Given the description of an element on the screen output the (x, y) to click on. 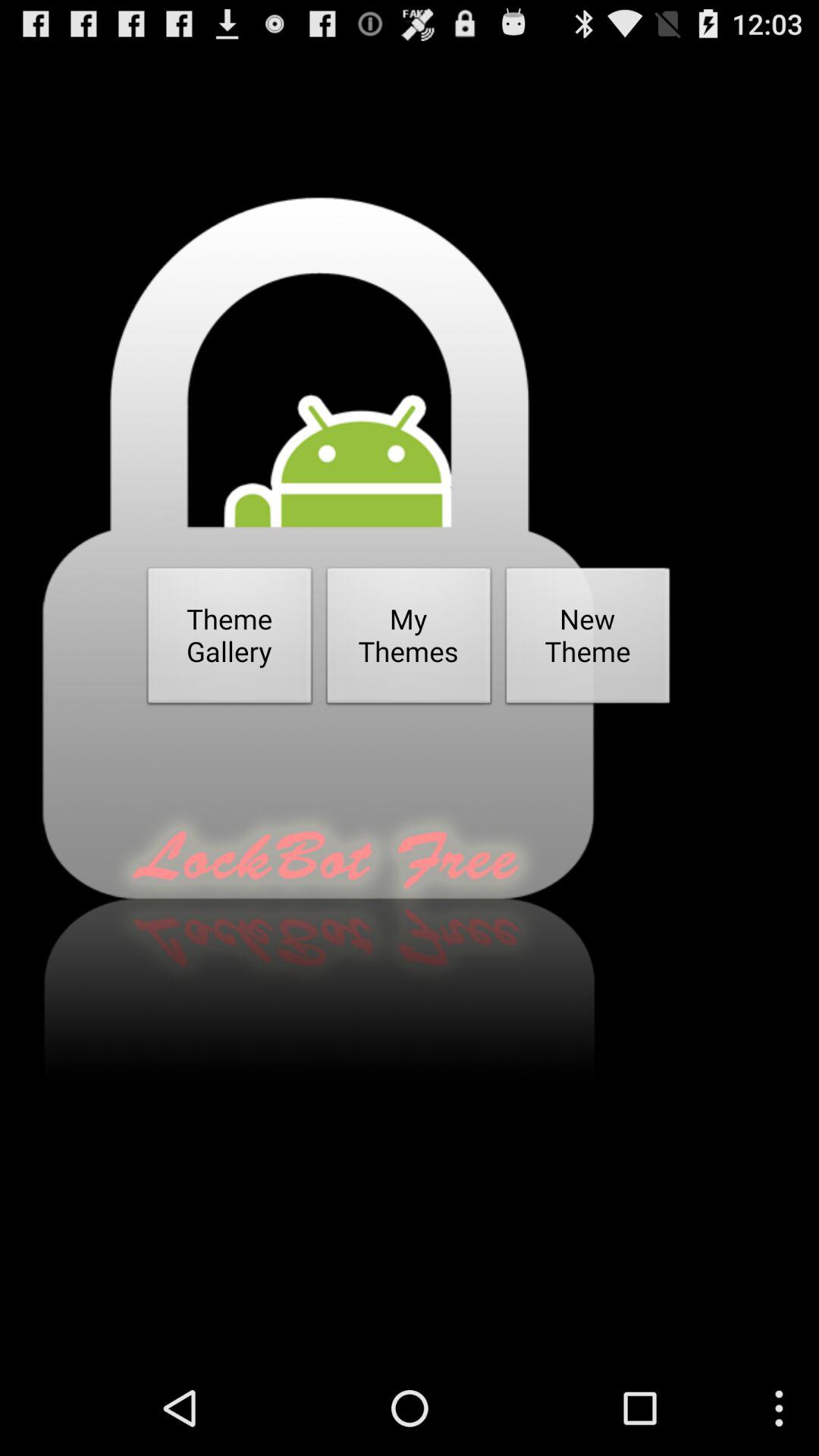
turn off button next to the my themes item (587, 639)
